Given the description of an element on the screen output the (x, y) to click on. 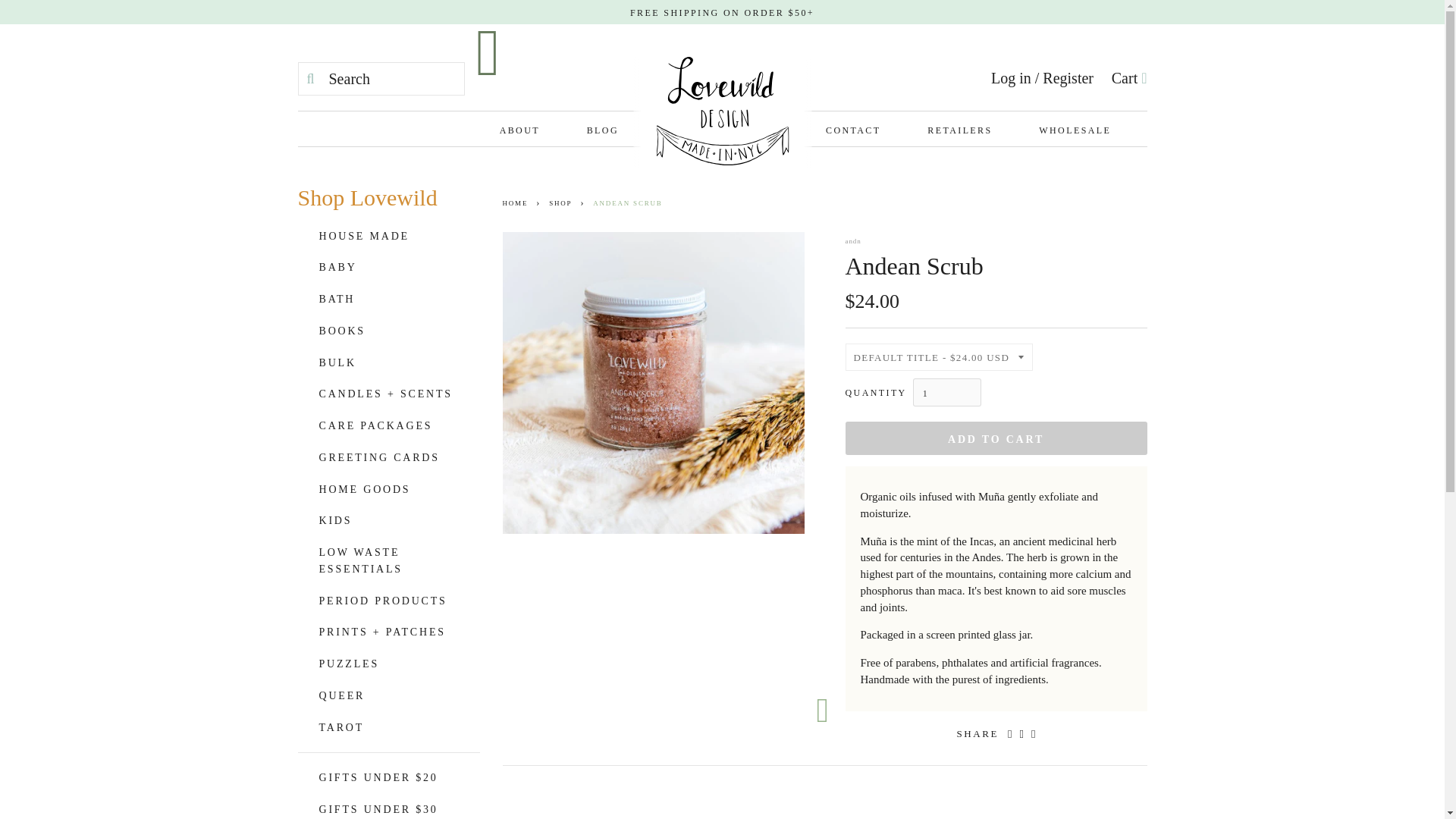
Back to the home page (517, 203)
Register (1067, 77)
Log in (1010, 77)
BLOG (602, 128)
1 (946, 392)
Cart (1129, 77)
CONTACT (852, 128)
WHOLESALE (1063, 128)
RETAILERS (959, 128)
ABOUT (530, 128)
Shop (562, 203)
